Given the description of an element on the screen output the (x, y) to click on. 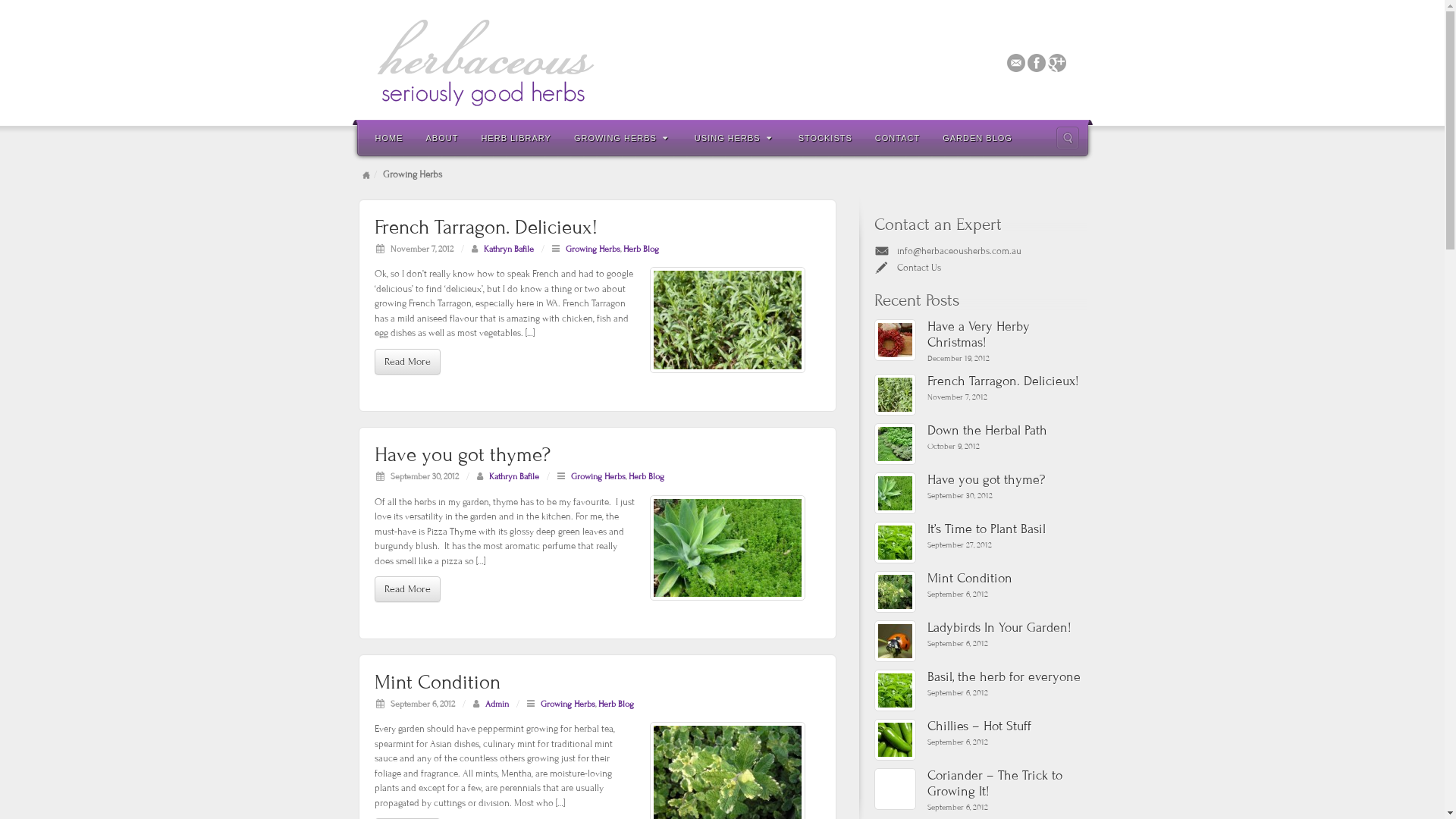
Herbaceous Herbs Element type: hover (721, 62)
Facebook Element type: text (1035, 62)
info@herbaceousherbs.com.au Element type: text (958, 250)
Contact Us Element type: text (918, 267)
Kathryn Bafile Element type: text (513, 475)
GROWING HERBS Element type: text (622, 137)
Growing Herbs Element type: text (597, 475)
Growing Herbs Element type: text (592, 248)
HOME Element type: text (389, 137)
Kathryn Bafile Element type: text (508, 248)
Mint Condition Element type: text (1005, 578)
Read More Element type: text (407, 589)
Read More Element type: text (407, 361)
Email Element type: text (1016, 62)
STOCKISTS Element type: text (825, 137)
Google+ Element type: text (1057, 62)
Basil, the herb for everyone Element type: hover (894, 690)
Basil, the herb for everyone Element type: text (1005, 677)
ABOUT Element type: text (441, 137)
Growing Herbs Element type: text (566, 703)
French Tarragon.  Delicieux! Element type: hover (726, 319)
USING HERBS Element type: text (735, 137)
Have you got thyme? Element type: hover (726, 547)
Herb Blog Element type: text (615, 703)
Mint Condition Element type: text (437, 681)
HERB LIBRARY Element type: text (515, 137)
Search the site... Element type: text (1066, 137)
Mint Condition Element type: hover (894, 591)
Have you got thyme? Element type: text (1005, 480)
Have a Very Herby Christmas! Element type: text (1005, 335)
French Tarragon. Delicieux! Element type: text (1005, 381)
Ladybirds In Your Garden! Element type: text (1005, 628)
French Tarragon. Delicieux! Element type: text (485, 226)
Admin Element type: text (496, 703)
Home Element type: text (366, 174)
Have you got thyme? Element type: text (462, 454)
Herb Blog Element type: text (640, 248)
Ladybirds In Your Garden! Element type: hover (894, 641)
Herb Blog Element type: text (645, 475)
GARDEN BLOG Element type: text (977, 137)
CONTACT Element type: text (897, 137)
French Tarragon.  Delicieux! Element type: hover (894, 394)
Down the Herbal Path Element type: text (1005, 431)
Have you got thyme? Element type: hover (894, 493)
